Given the description of an element on the screen output the (x, y) to click on. 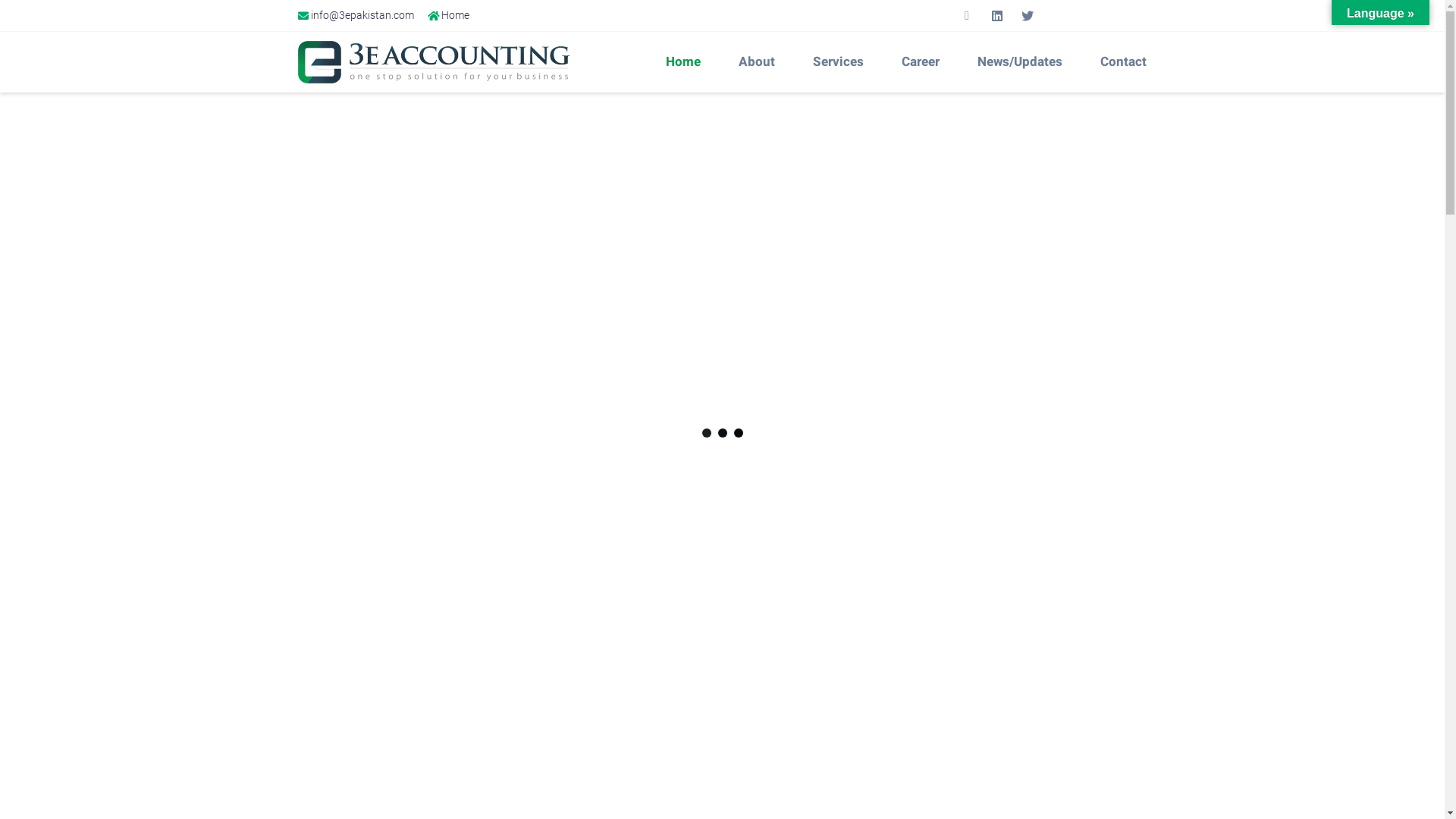
Home Element type: text (448, 15)
Career Element type: text (924, 61)
About Element type: text (760, 61)
Services Element type: text (841, 61)
News/Updates Element type: text (1023, 61)
Contact Element type: text (1127, 61)
Home Element type: text (686, 61)
